Given the description of an element on the screen output the (x, y) to click on. 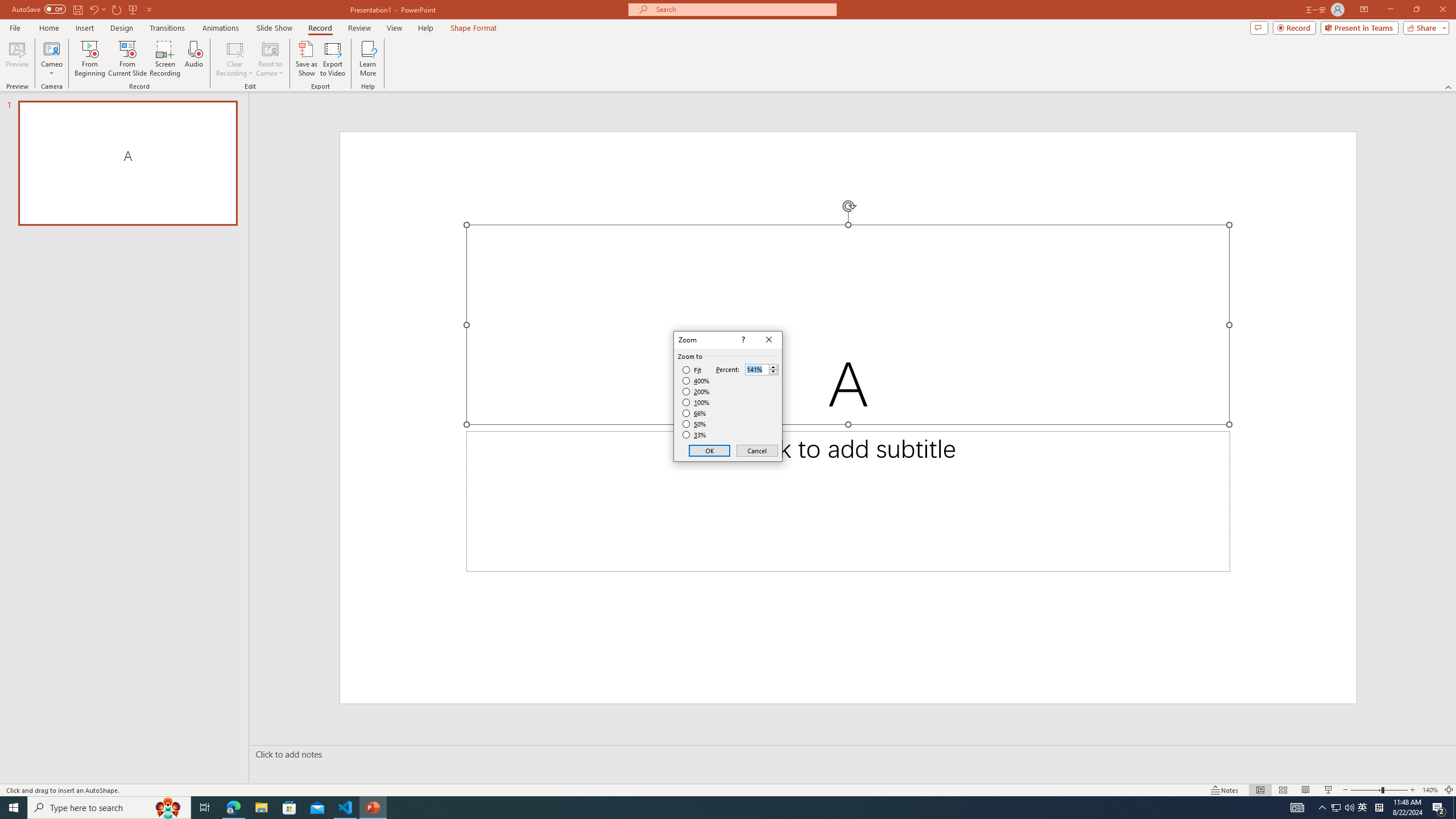
33% (694, 434)
400% (696, 380)
200% (696, 391)
